Given the description of an element on the screen output the (x, y) to click on. 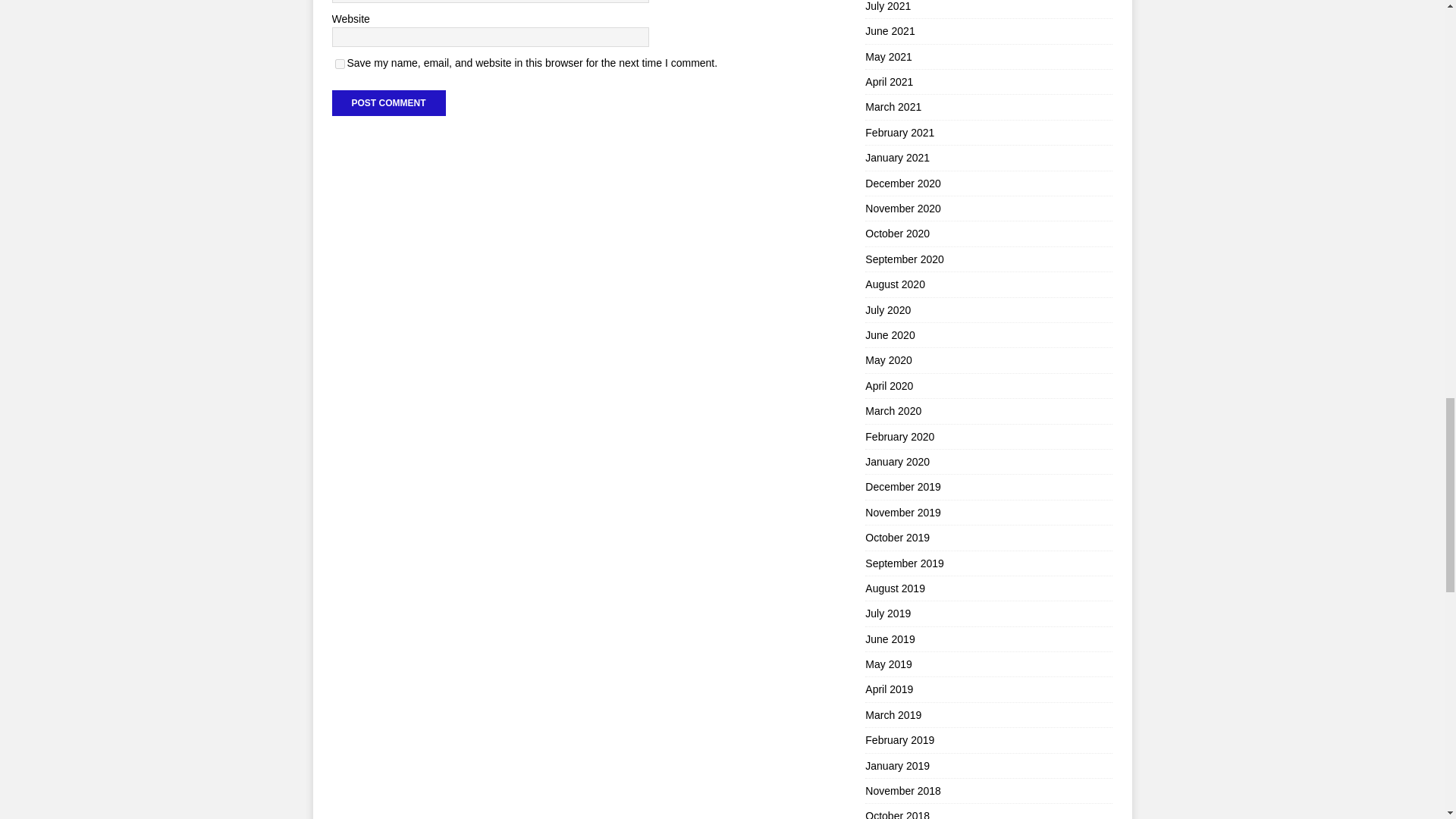
Post Comment (388, 103)
yes (339, 63)
